Given the description of an element on the screen output the (x, y) to click on. 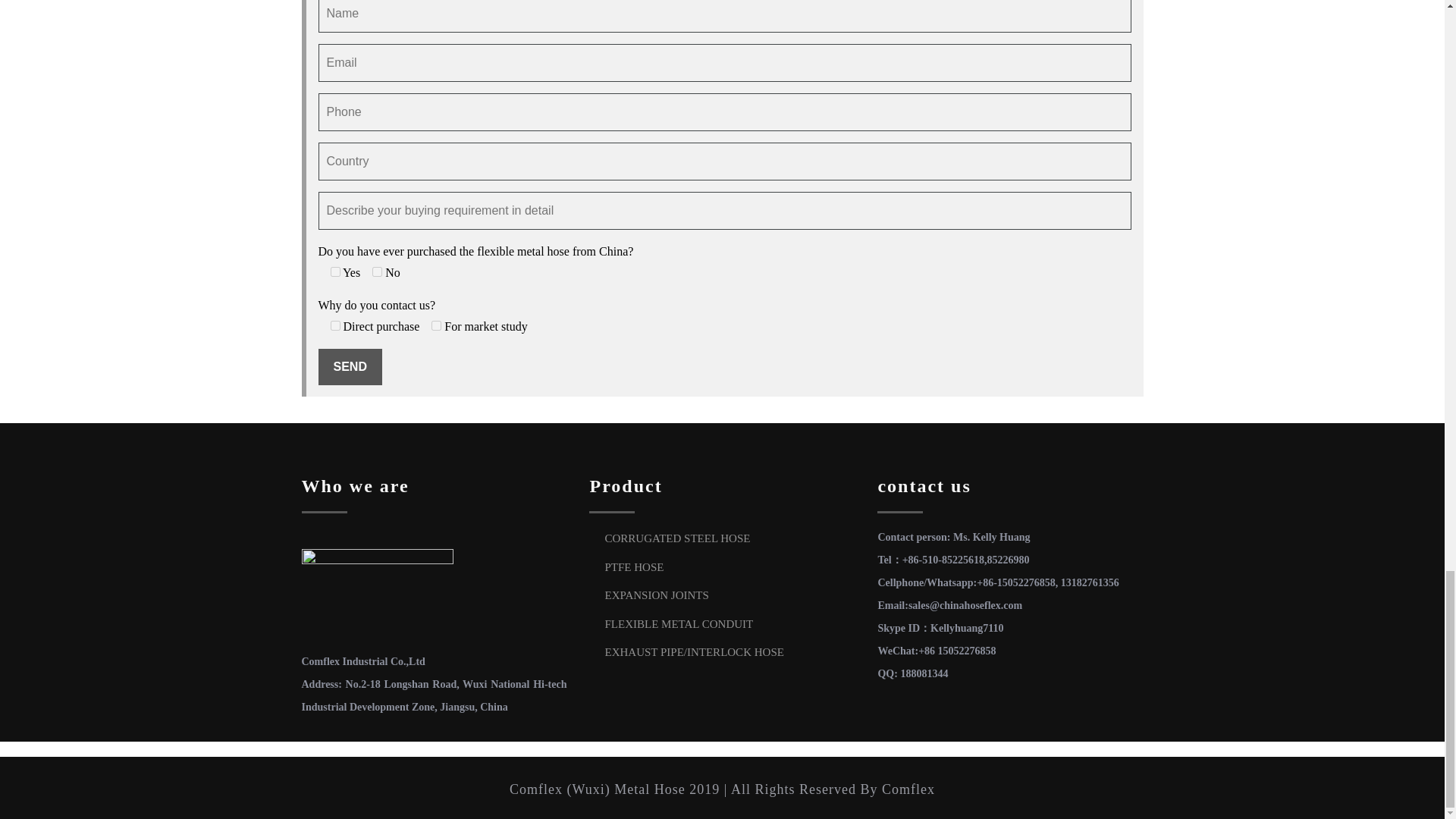
Send (349, 366)
Yes (335, 271)
Direct purchase (335, 325)
No (376, 271)
For market study (435, 325)
